Given the description of an element on the screen output the (x, y) to click on. 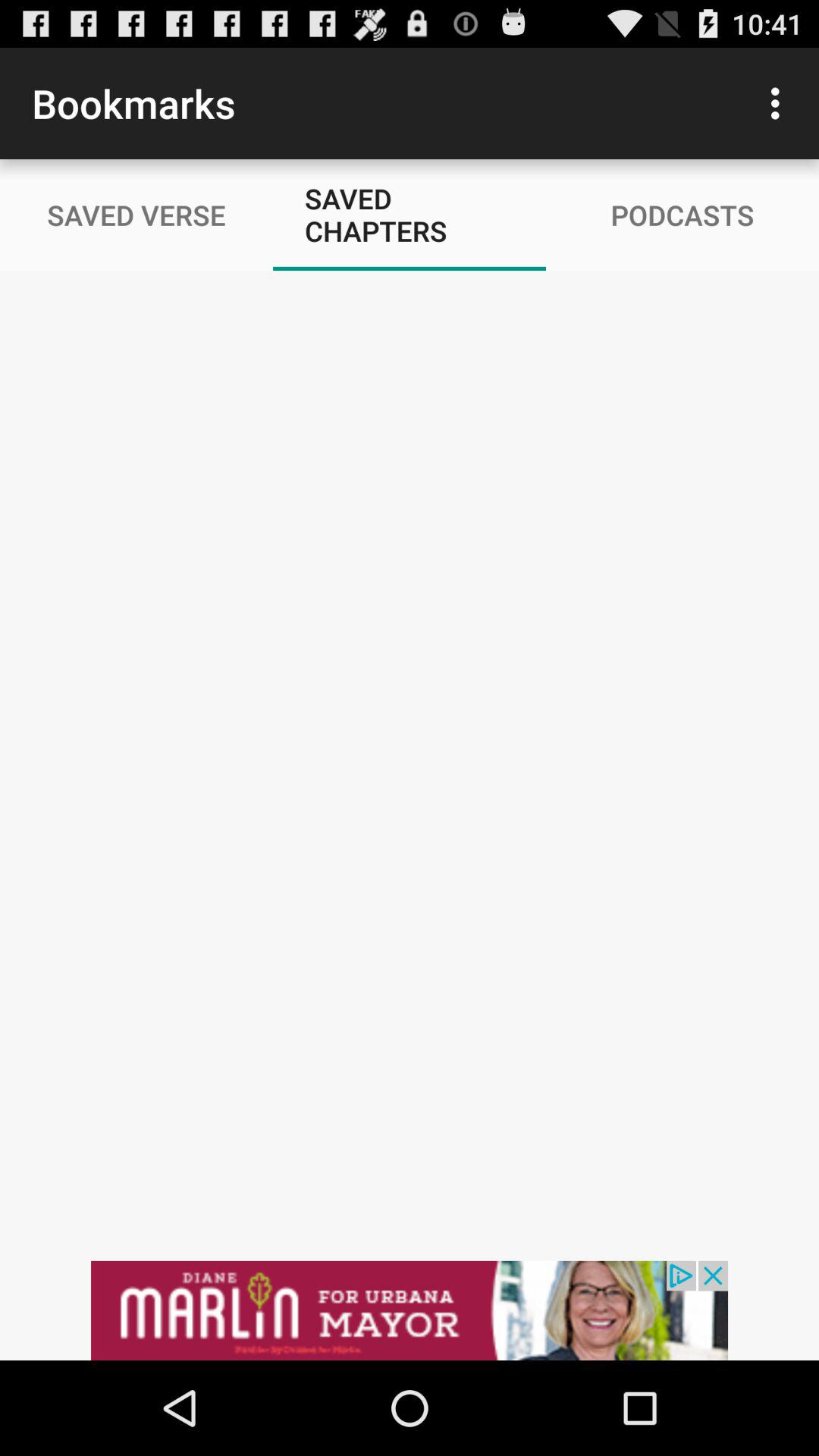
go to marlin advertisement (409, 1310)
